Given the description of an element on the screen output the (x, y) to click on. 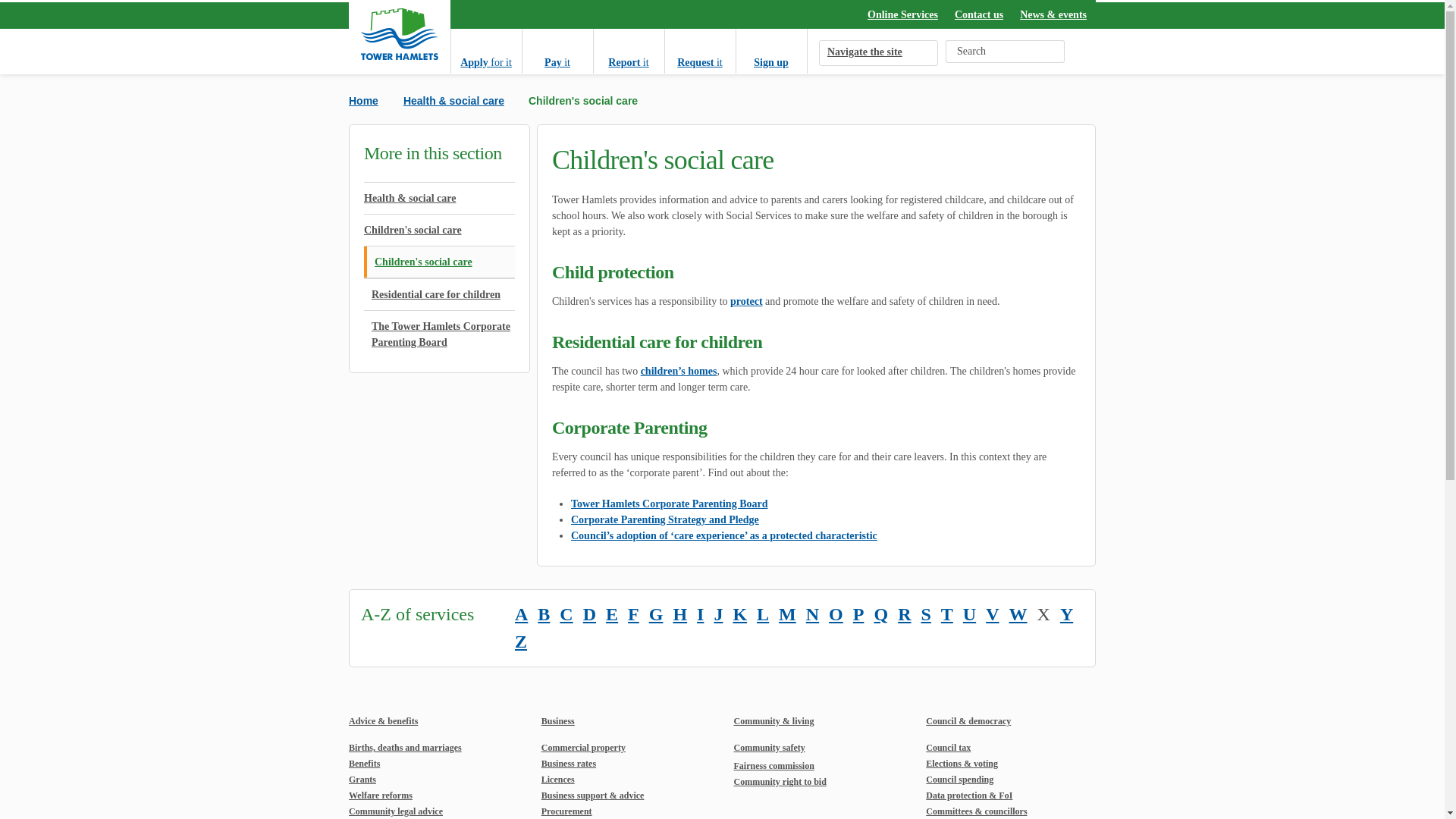
Pay it (556, 50)
Children's social care (439, 229)
Children's social care (439, 261)
Search (1053, 51)
Report it (627, 50)
Corporate Parenting Strategy and Pledge (664, 519)
Search (1053, 51)
Request it (699, 50)
Search (1053, 51)
Report it (627, 50)
